Given the description of an element on the screen output the (x, y) to click on. 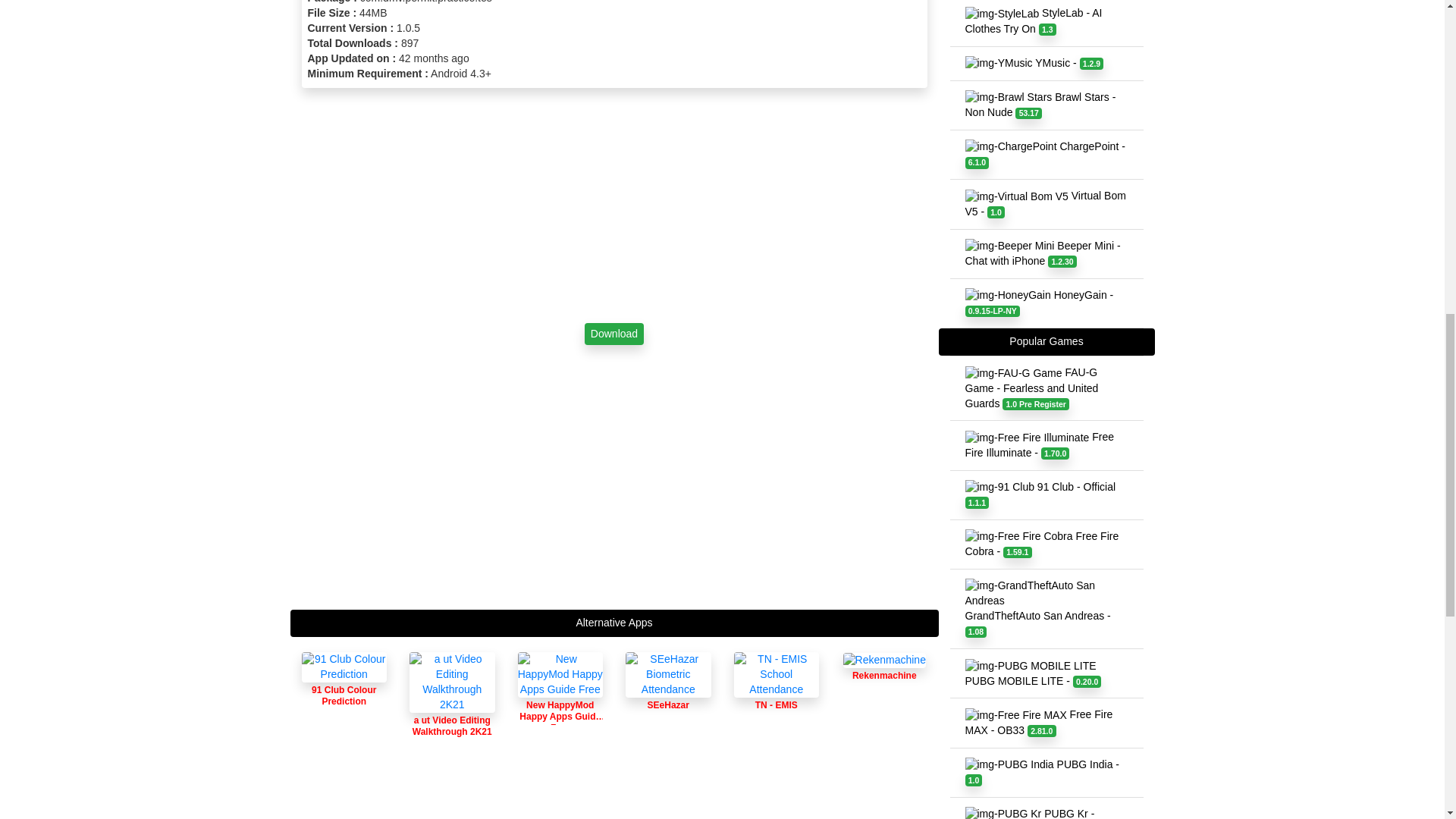
91 Club Colour Prediction (344, 685)
91 Club Colour Prediction (344, 666)
TN - EMIS (776, 696)
TN - EMIS (776, 696)
StyleLab - AI Clothes Try On 1.3 (1045, 22)
SEeHazar (668, 674)
TN - EMIS (776, 674)
a ut Video Editing Walkthrough 2K21 (452, 707)
a ut Video Editing Walkthrough 2K21 (452, 707)
New HappyMod Happy Apps Guide Free (559, 674)
SEeHazar (668, 696)
Download (614, 333)
Rekenmachine (884, 673)
a ut Video Editing Walkthrough 2K21 (452, 681)
91 Club Colour Prediction (344, 685)
